Given the description of an element on the screen output the (x, y) to click on. 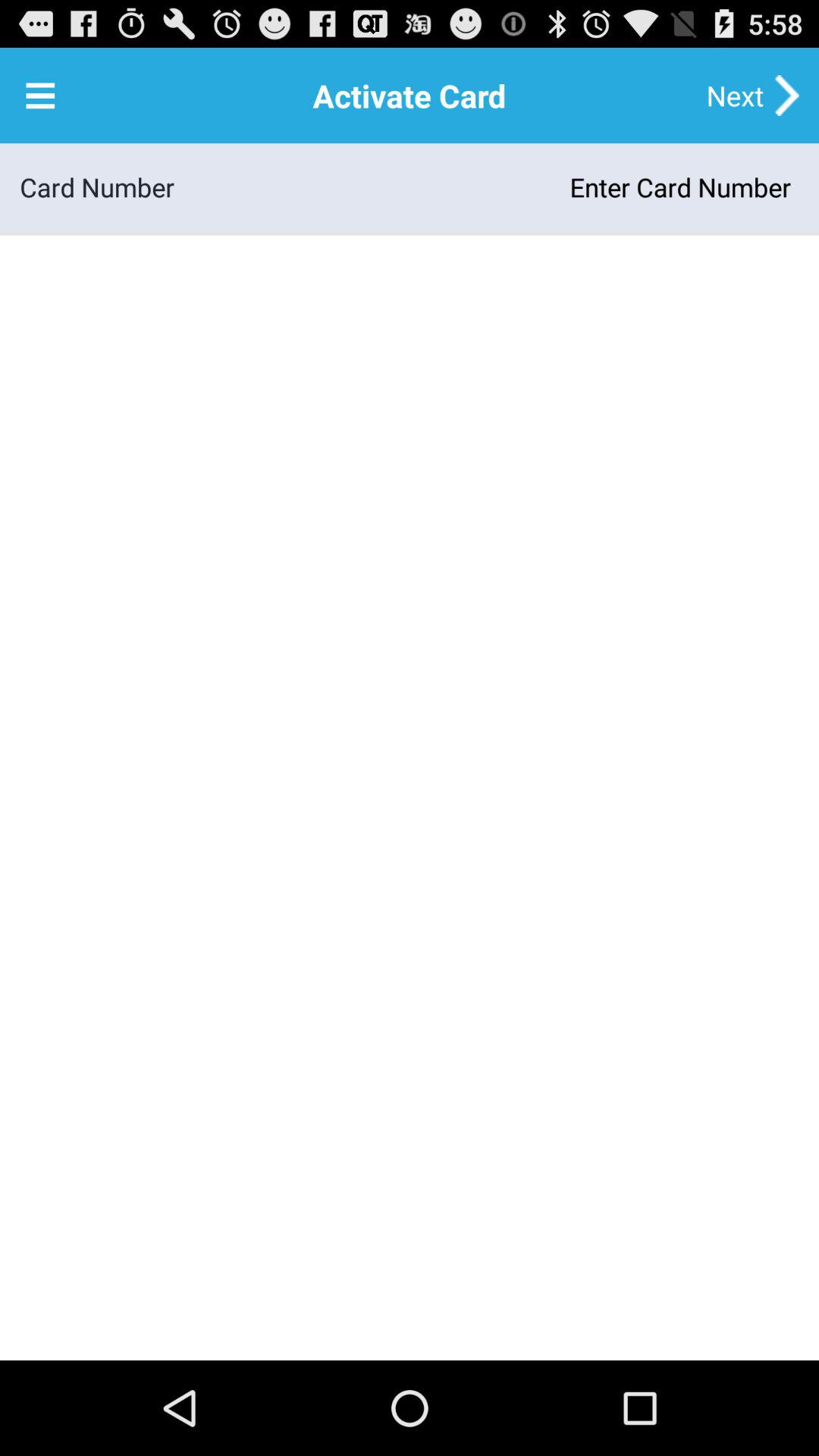
launch app to the right of the card number item (486, 186)
